Given the description of an element on the screen output the (x, y) to click on. 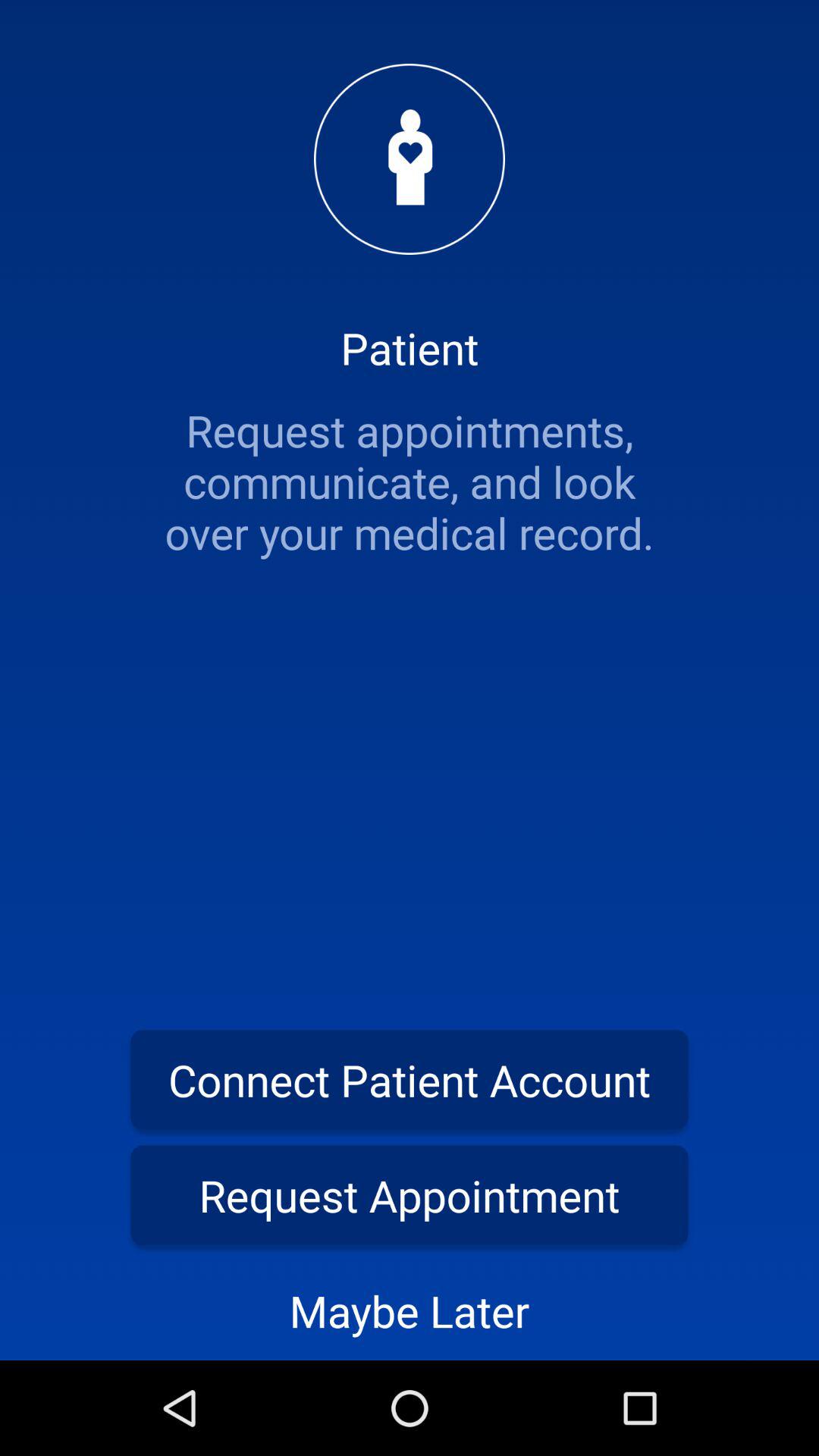
launch the maybe later item (409, 1310)
